Given the description of an element on the screen output the (x, y) to click on. 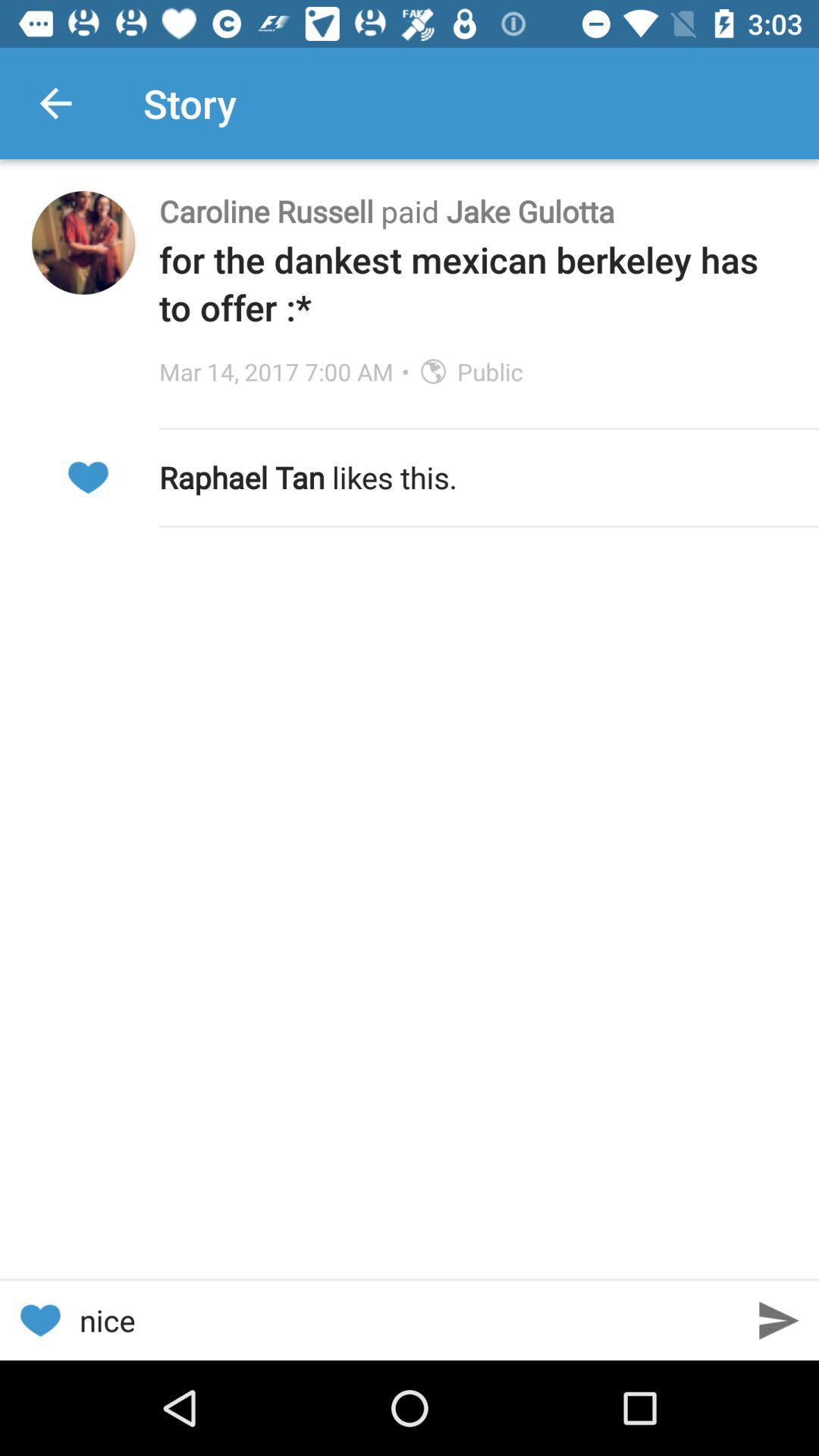
open the icon at the bottom left corner (39, 1320)
